Given the description of an element on the screen output the (x, y) to click on. 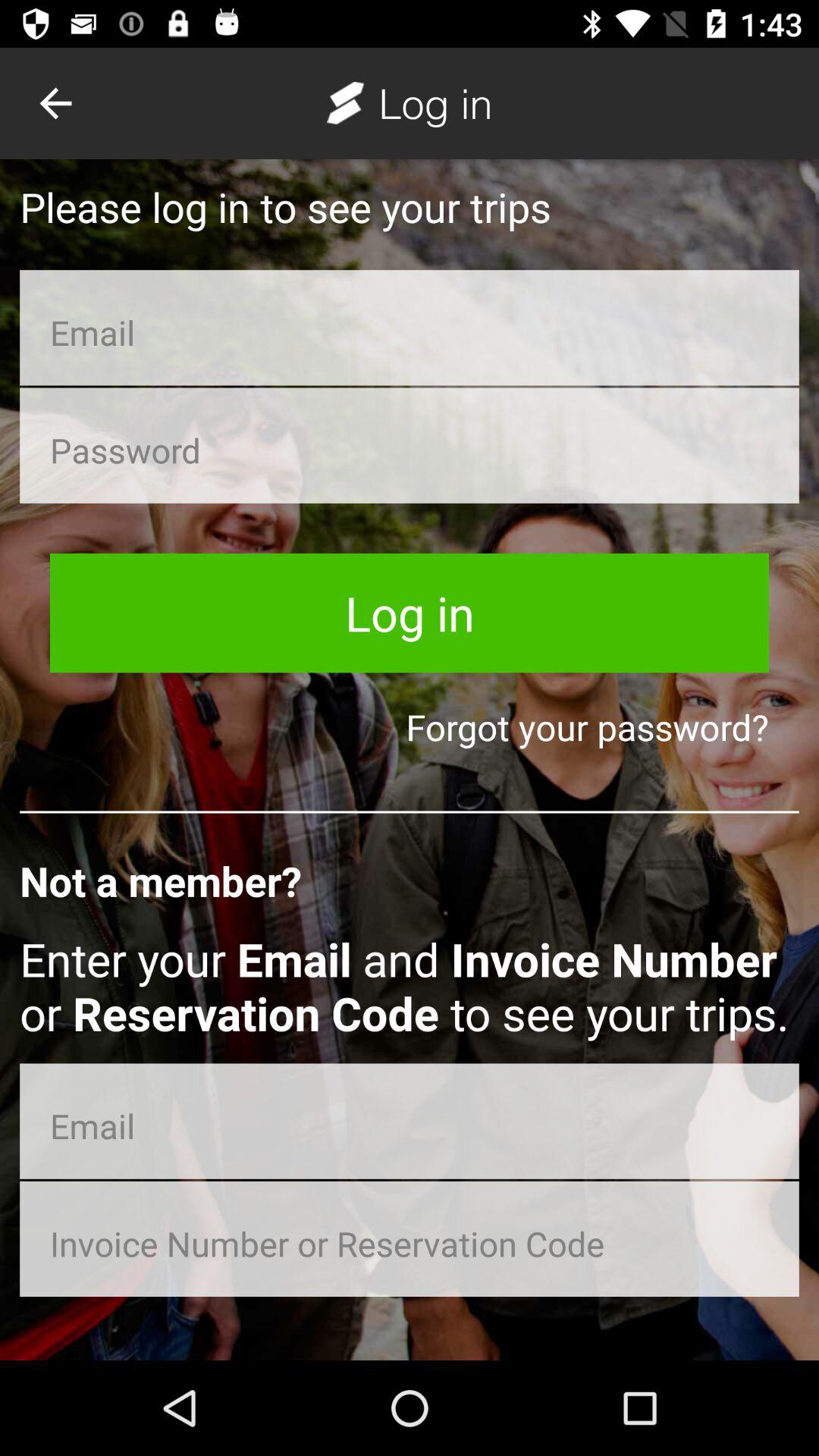
tap item below the log in item (409, 726)
